Given the description of an element on the screen output the (x, y) to click on. 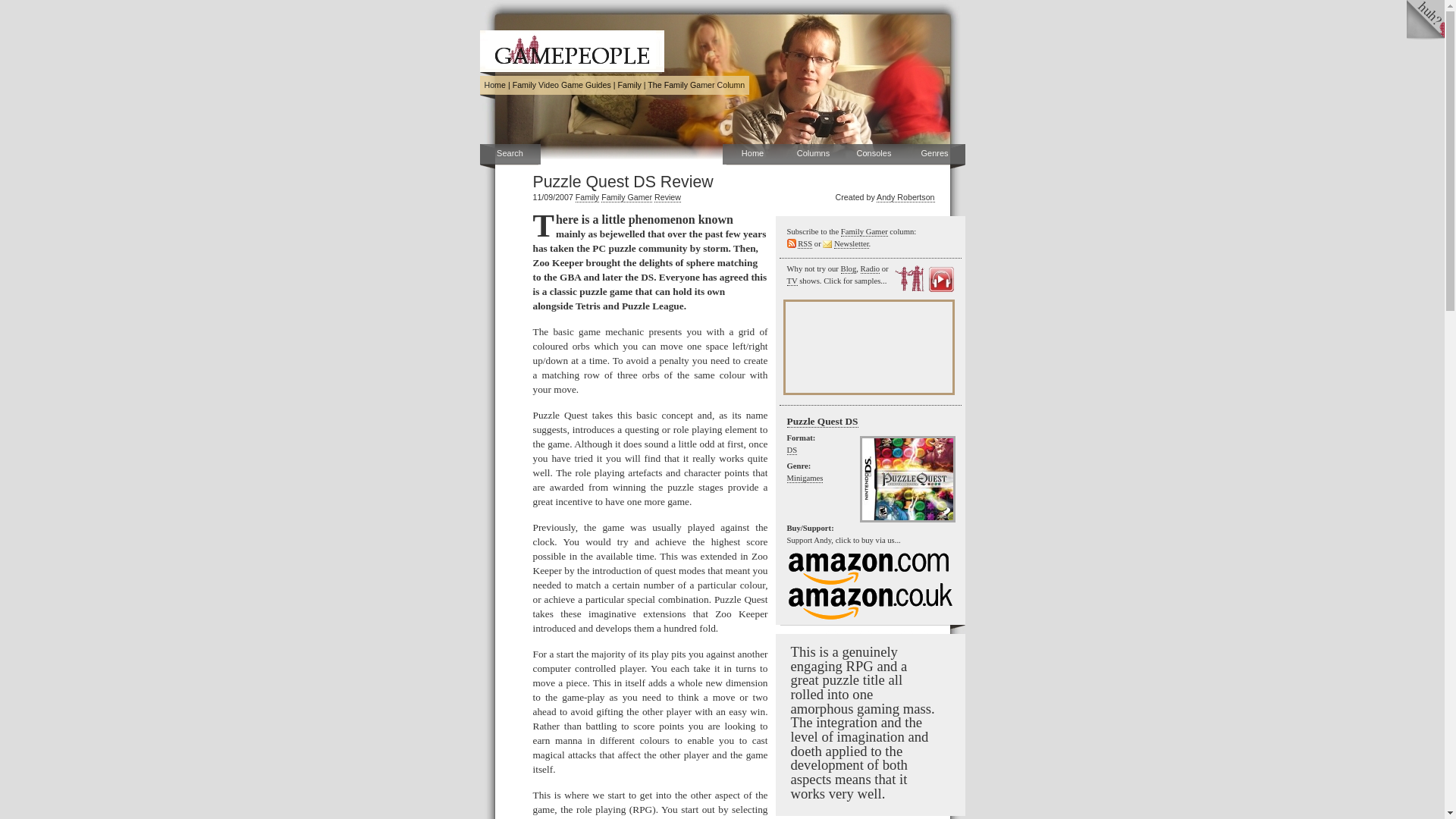
Columns (813, 154)
Family Gamer (626, 197)
Breadcrumb Trail (614, 85)
Andy Robertson (905, 197)
Home (494, 84)
Family (586, 197)
Home (494, 84)
The Family Gamer Column (695, 84)
Home (752, 154)
Search (509, 154)
